Given the description of an element on the screen output the (x, y) to click on. 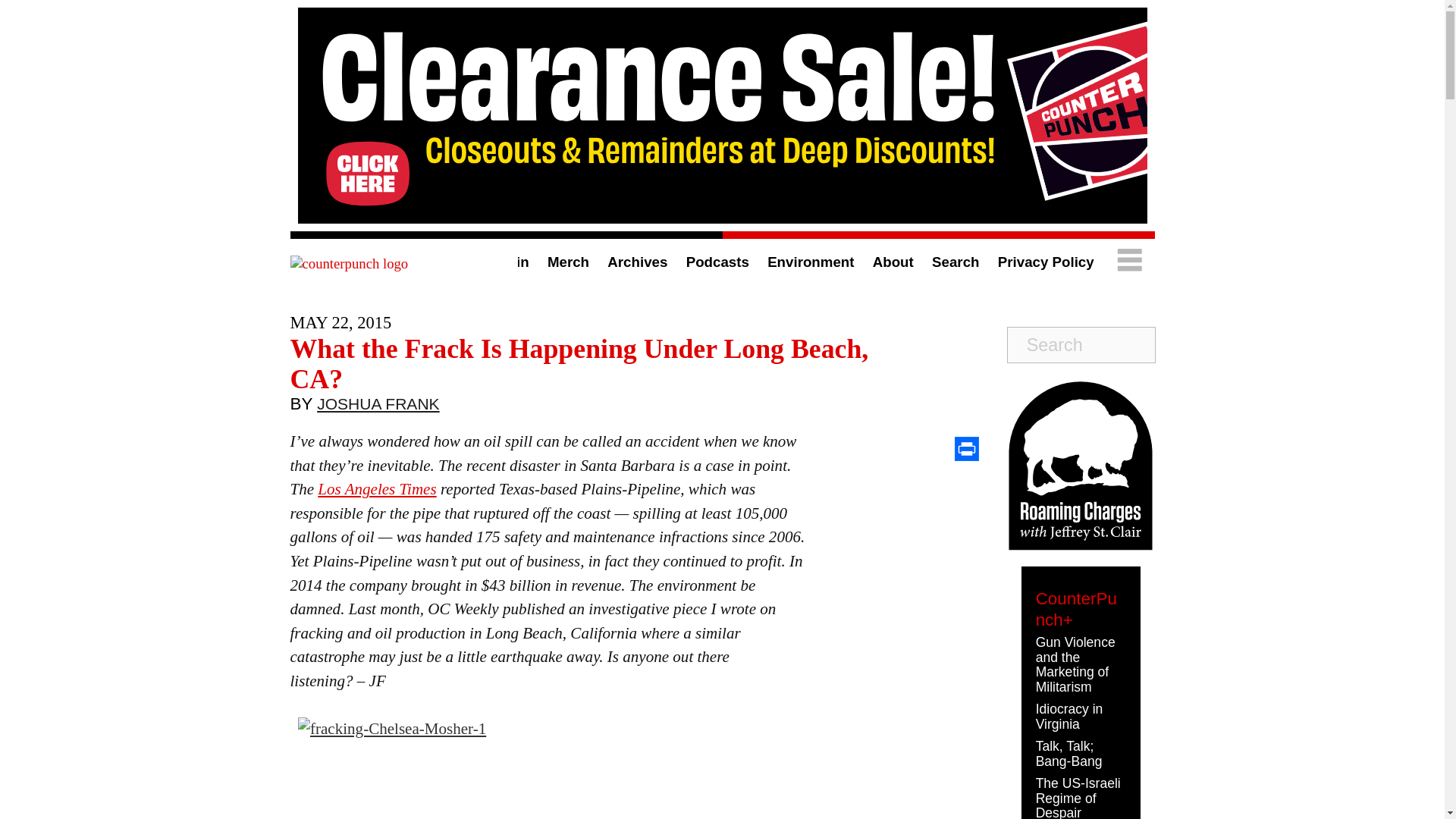
What the Frack Is Happening Under Long Beach, CA? (578, 363)
Los Angeles Times (376, 488)
Print This Post (966, 448)
JOSHUA FRANK (378, 407)
Merch (568, 261)
Podcasts (717, 261)
Environment (810, 261)
About (893, 261)
Login (509, 261)
Search (954, 261)
Archives (636, 261)
Privacy Policy (1045, 261)
2015-05-22 (340, 322)
